Given the description of an element on the screen output the (x, y) to click on. 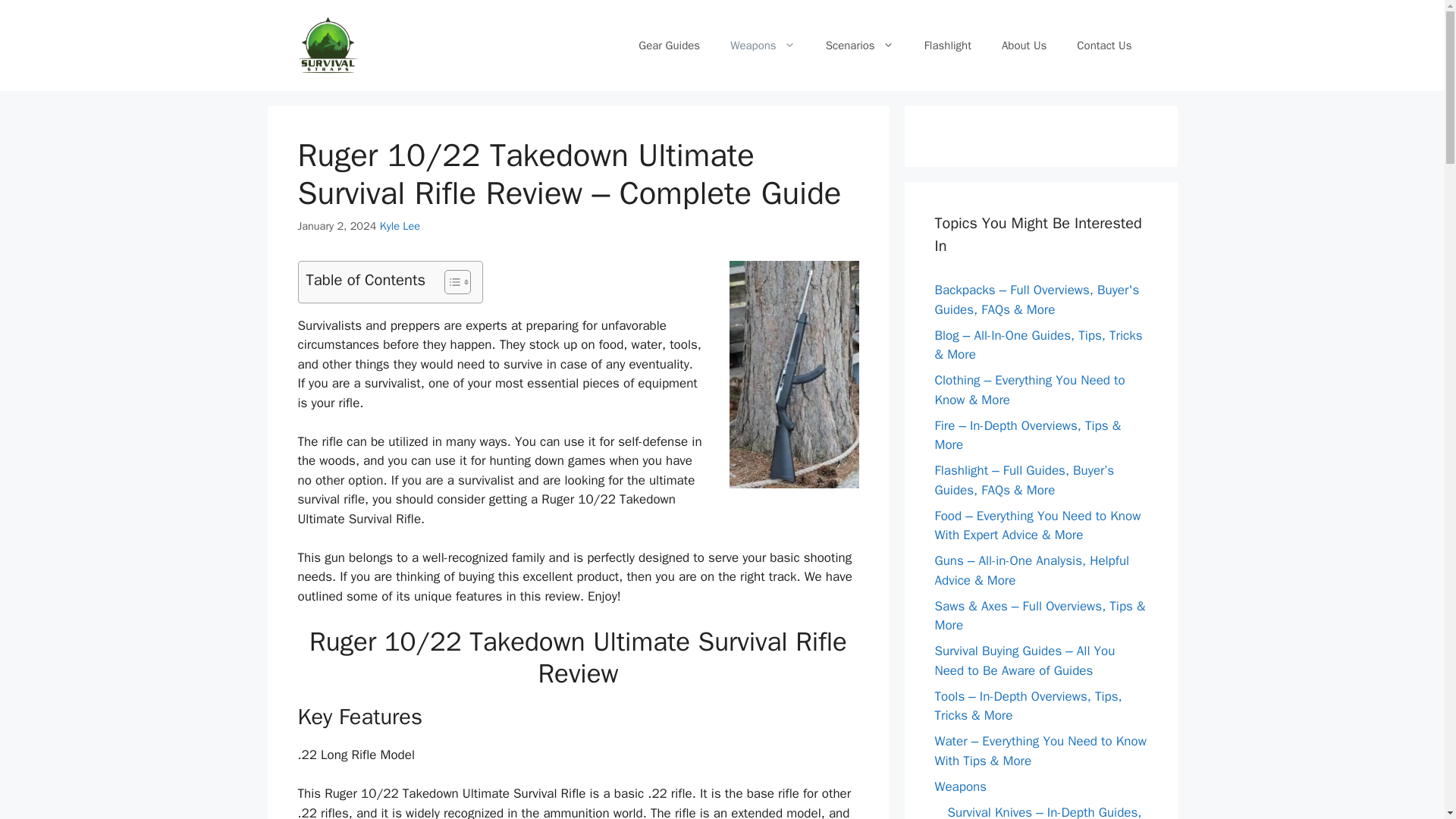
Weapons (762, 44)
Kyle Lee (400, 225)
Scenarios (859, 44)
Kyle Lee (400, 225)
Flashlight (947, 44)
Contact Us (1104, 44)
About Us (1024, 44)
Gear Guides (668, 44)
